Given the description of an element on the screen output the (x, y) to click on. 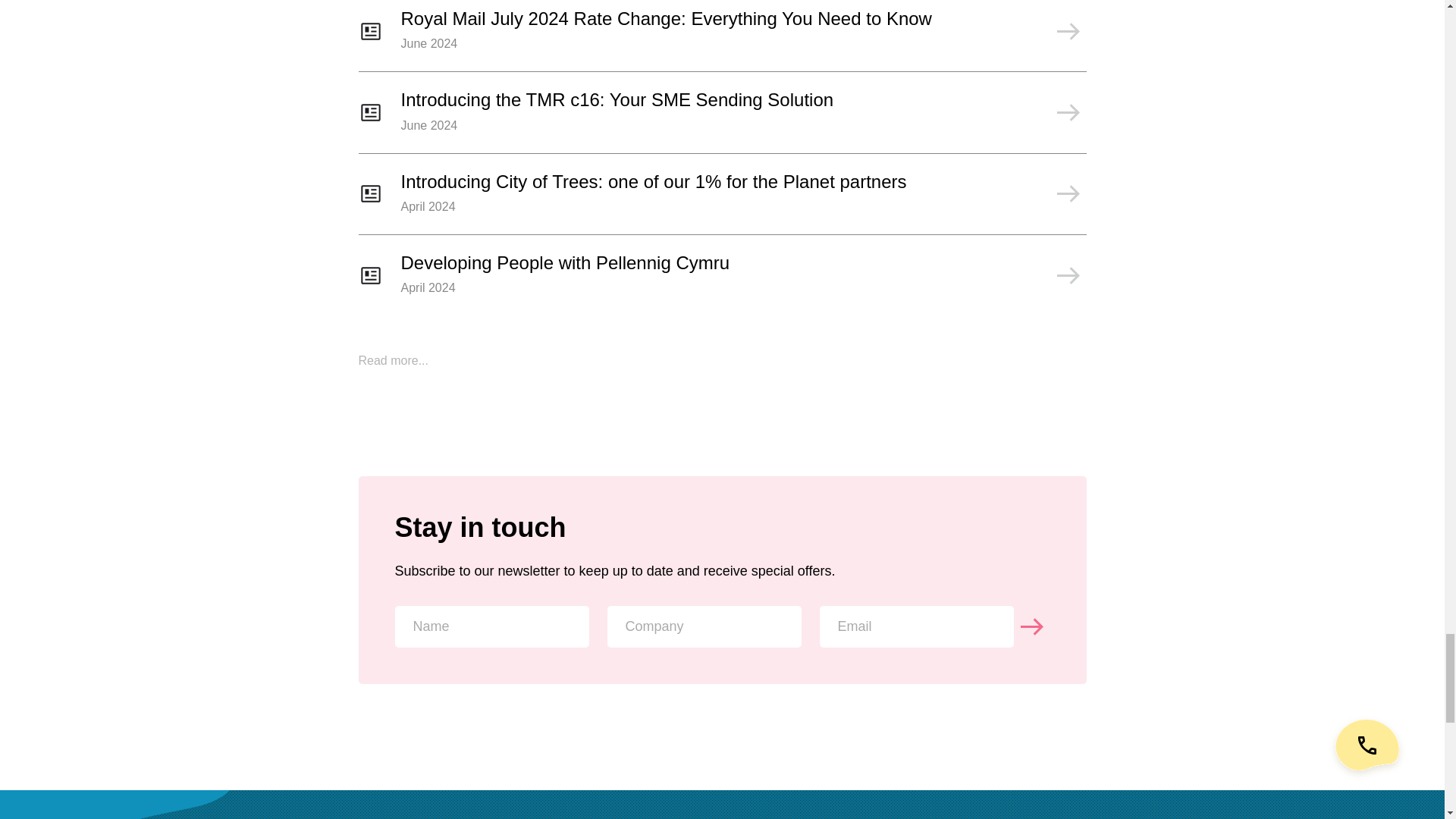
View all posts (393, 359)
Developing People with Pellennig Cymru (722, 284)
Introducing the TMR c16: Your SME Sending Solution (722, 121)
